Given the description of an element on the screen output the (x, y) to click on. 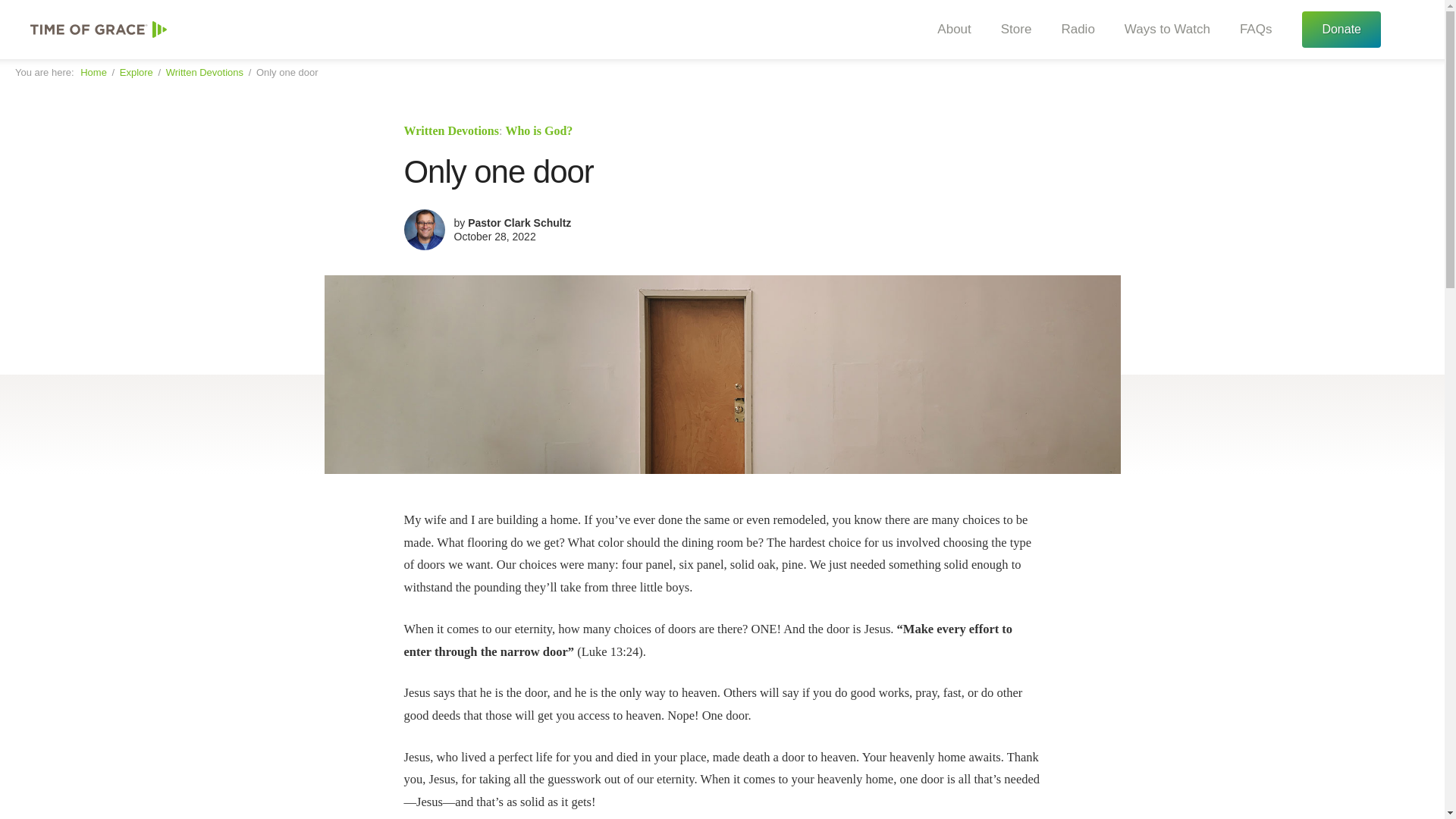
Ways to Watch (1161, 29)
Donate (1340, 29)
Store (1011, 29)
FAQs (1250, 29)
About (948, 29)
Radio (1071, 29)
